Given the description of an element on the screen output the (x, y) to click on. 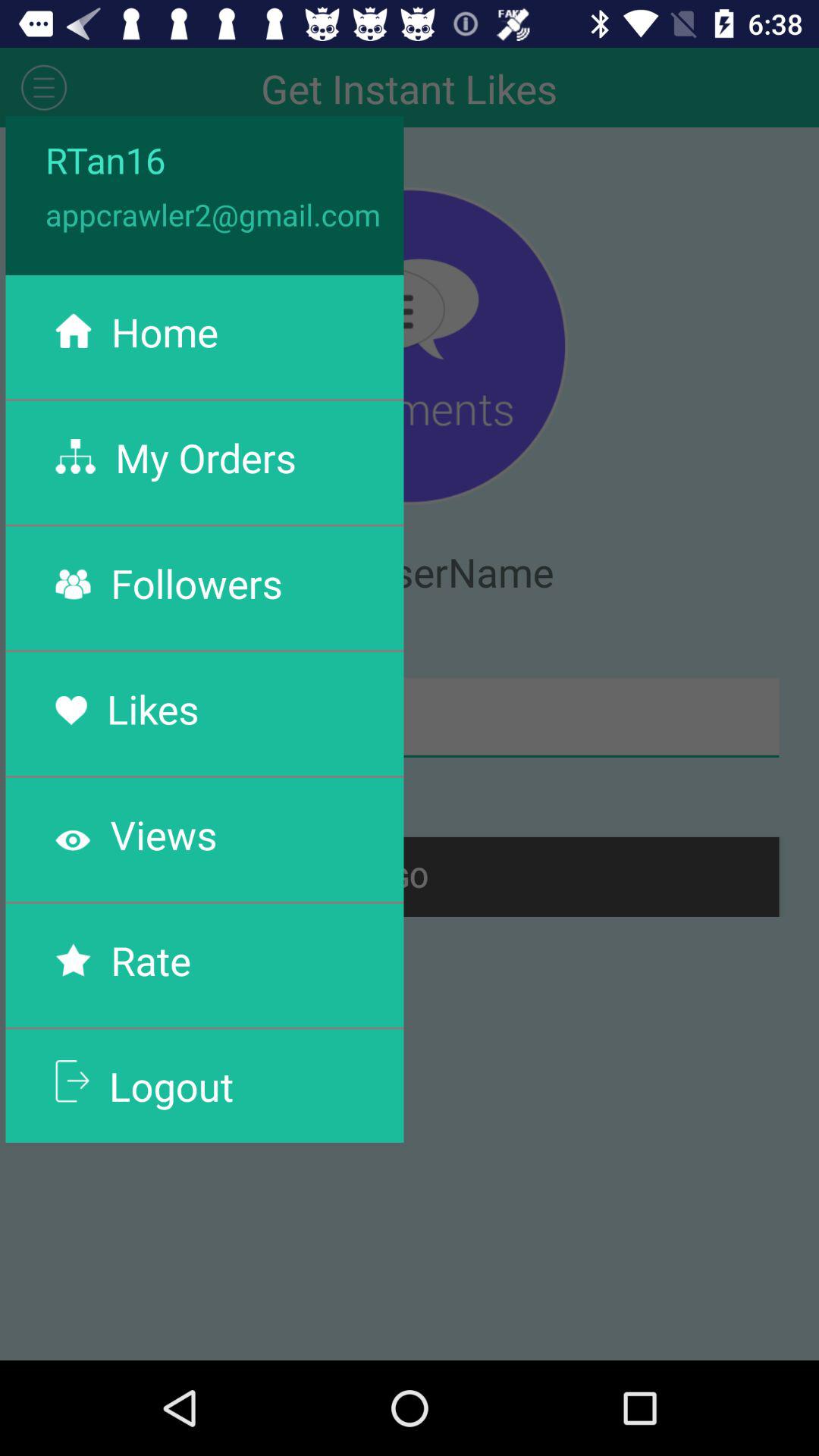
jump until the my orders (205, 457)
